Given the description of an element on the screen output the (x, y) to click on. 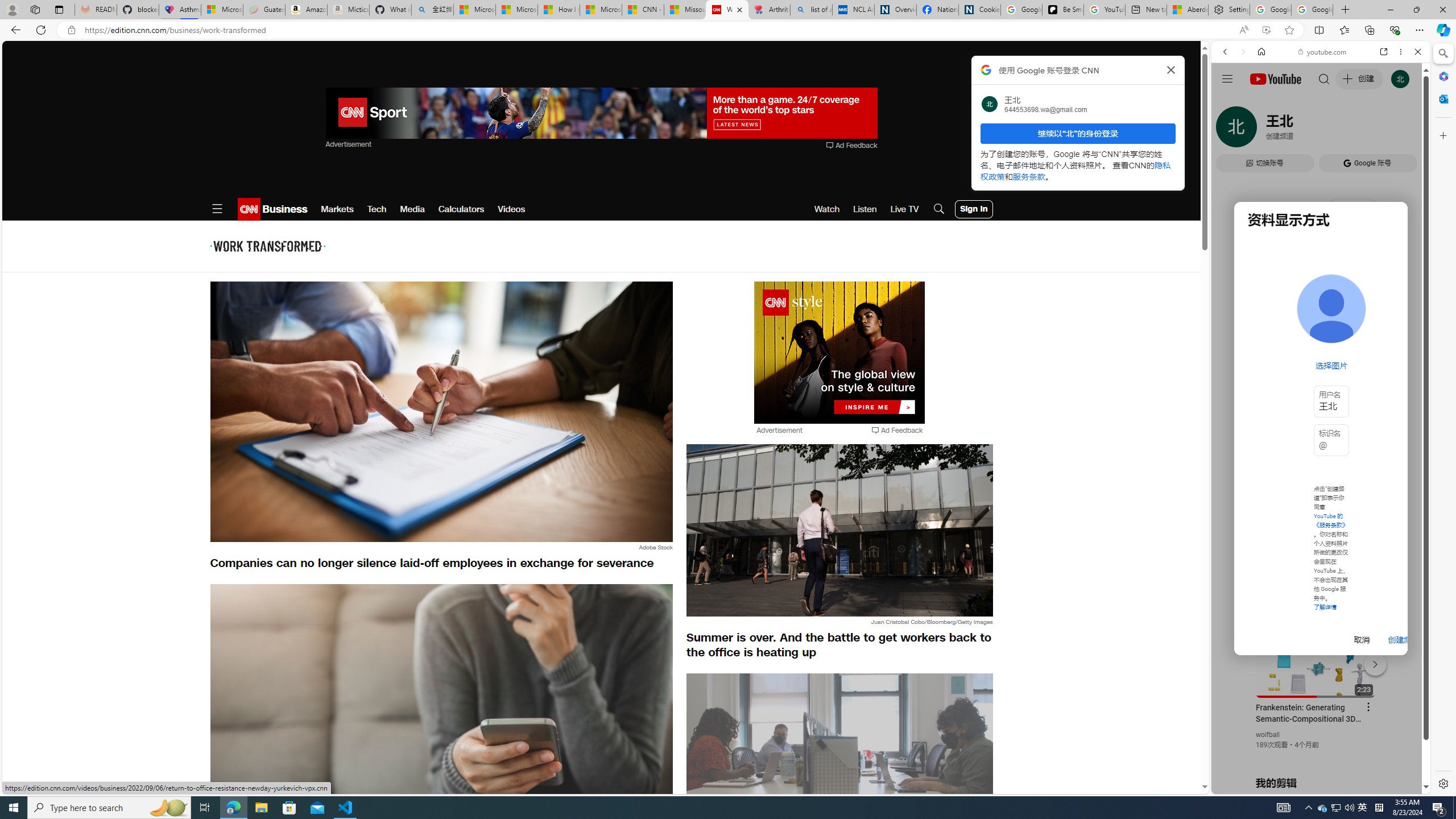
Close Customize pane (1442, 135)
Search Filter, Search Tools (1350, 129)
CNN logo (248, 209)
Enhance video (1266, 29)
Markets (336, 209)
Search videos from youtube.com (1299, 373)
AutomationID: aw0 (840, 353)
